Given the description of an element on the screen output the (x, y) to click on. 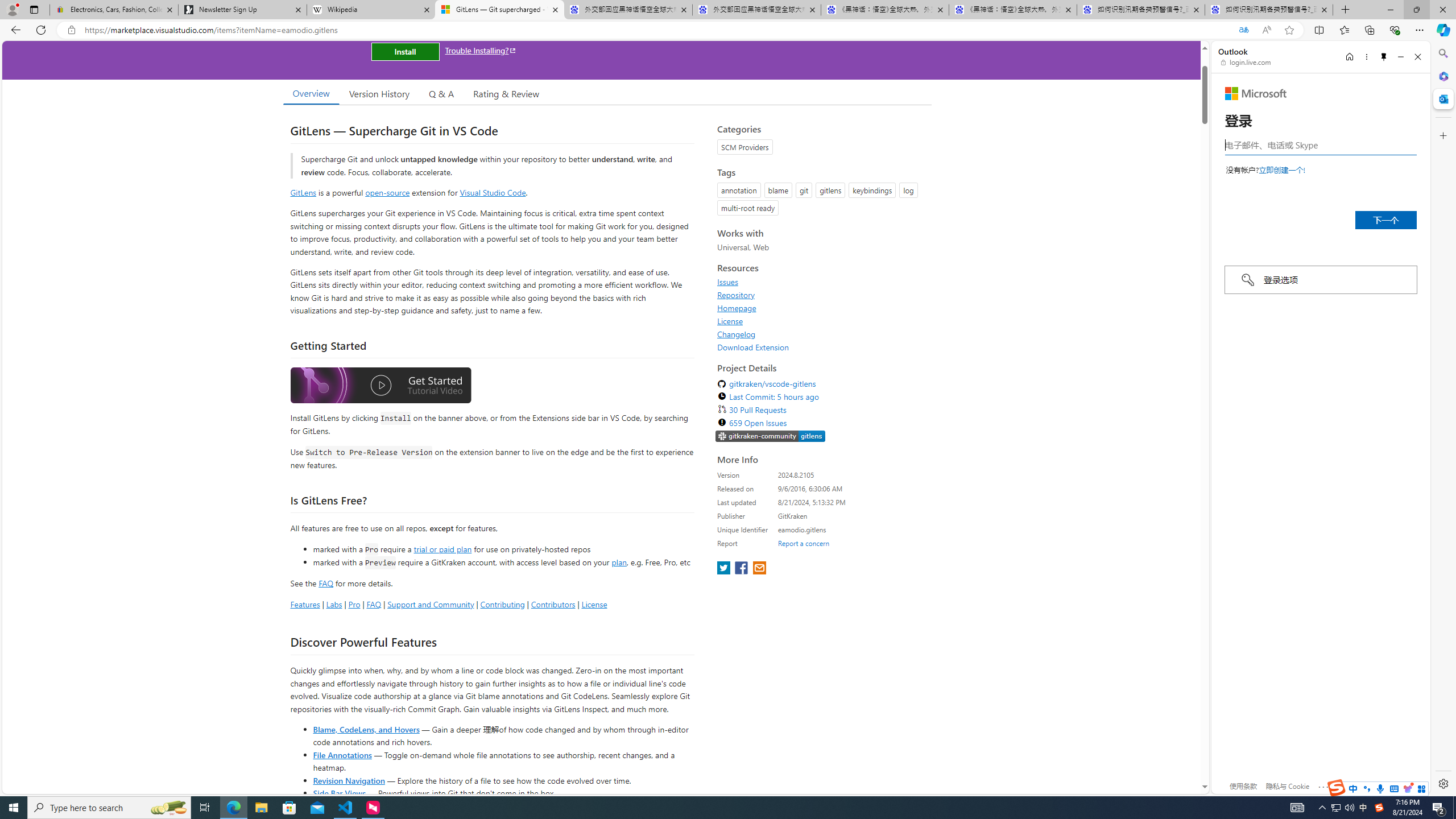
open-source (387, 192)
Contributing (502, 603)
Homepage (820, 307)
Side Bar Views (339, 792)
Changelog (820, 333)
Install (405, 51)
